Given the description of an element on the screen output the (x, y) to click on. 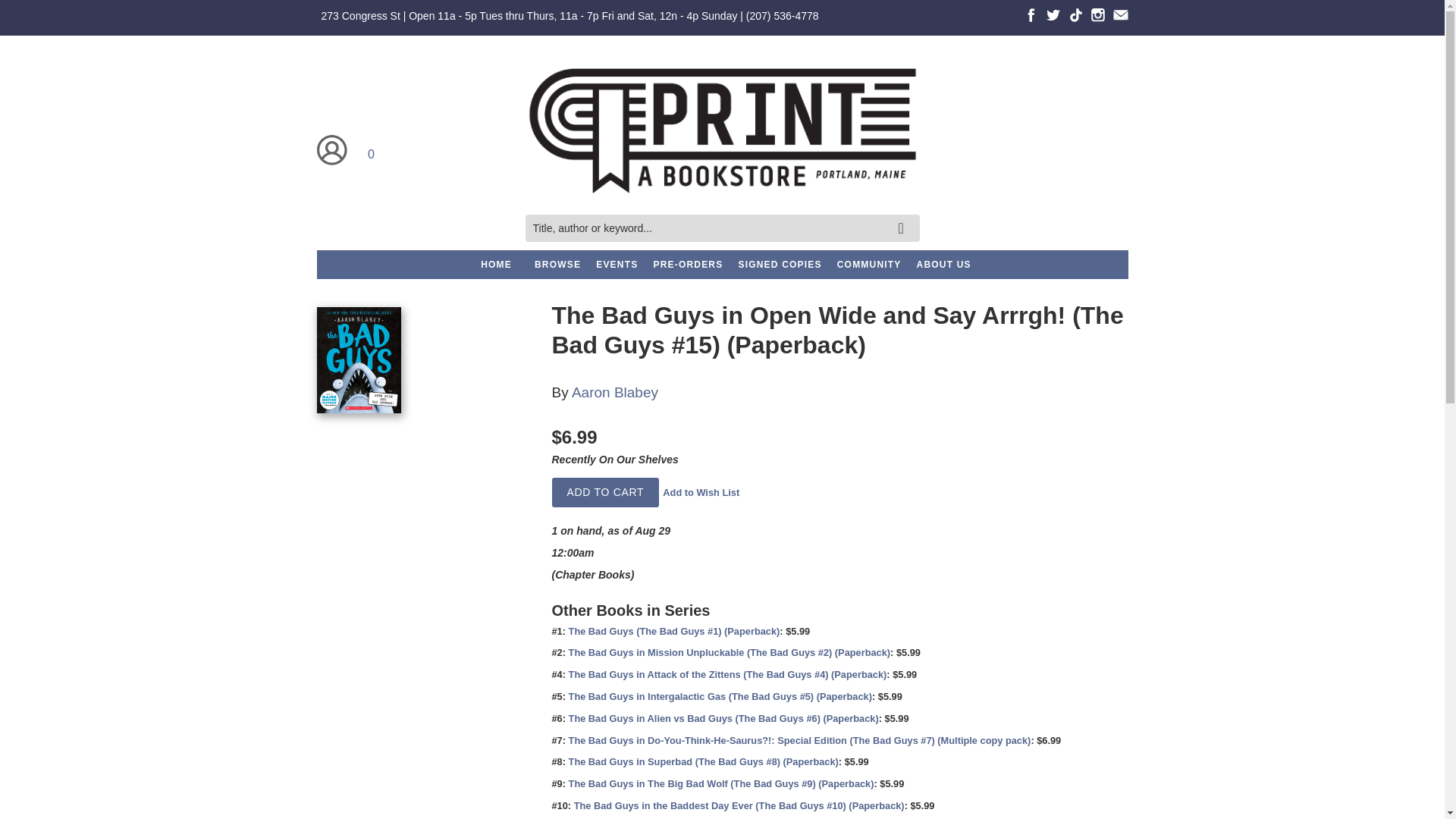
search (903, 216)
SIGNED COPIES (779, 264)
EVENTS (616, 264)
search (903, 216)
HOME (496, 264)
BROWSE (557, 264)
Title, author or keyword... (721, 228)
Home (721, 130)
PRE-ORDERS (687, 264)
COMMUNITY (868, 264)
